Given the description of an element on the screen output the (x, y) to click on. 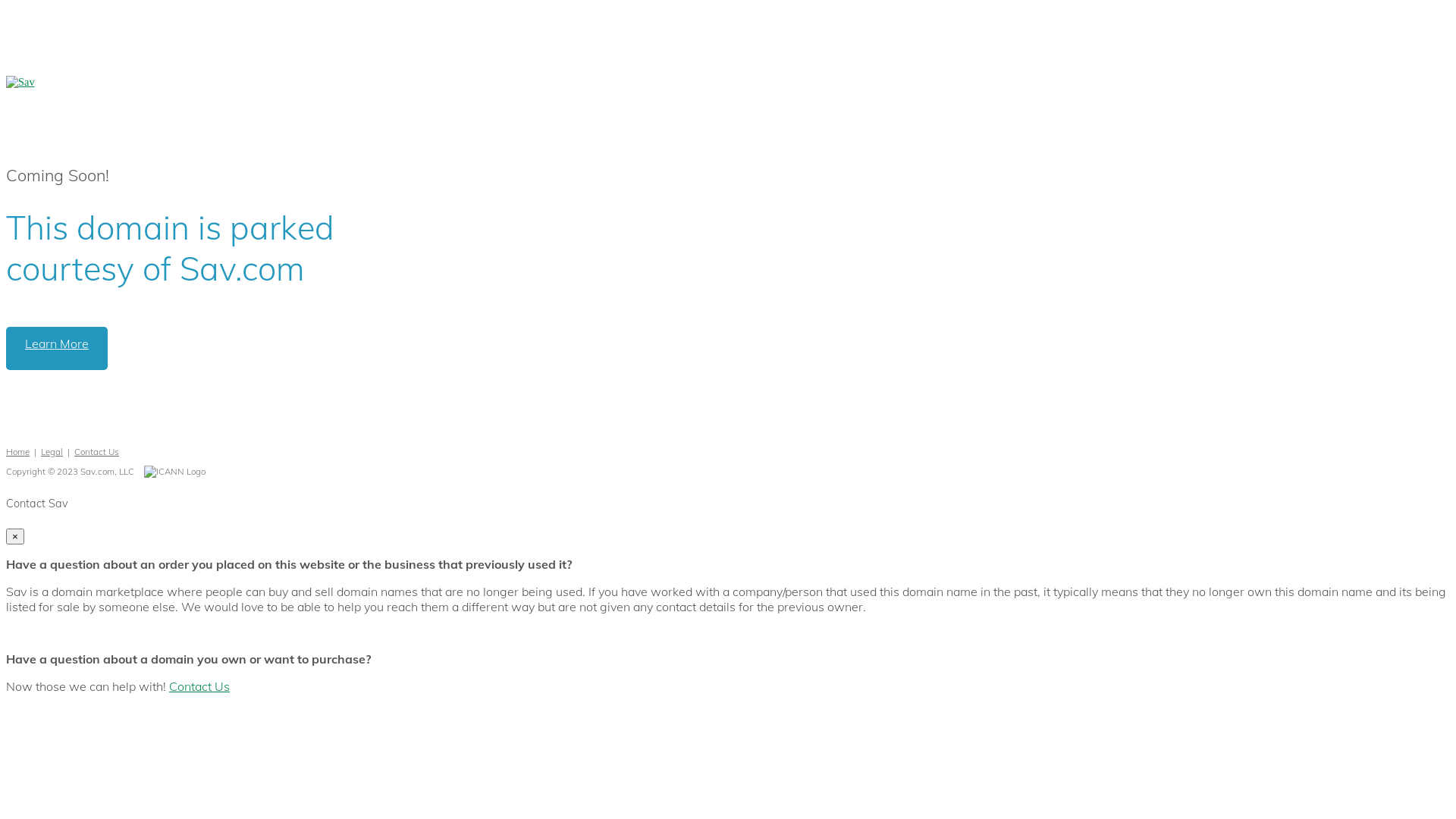
Learn More Element type: text (56, 348)
Legal Element type: text (51, 451)
Contact Us Element type: text (199, 685)
Home Element type: text (17, 451)
Contact Us Element type: text (96, 451)
